Given the description of an element on the screen output the (x, y) to click on. 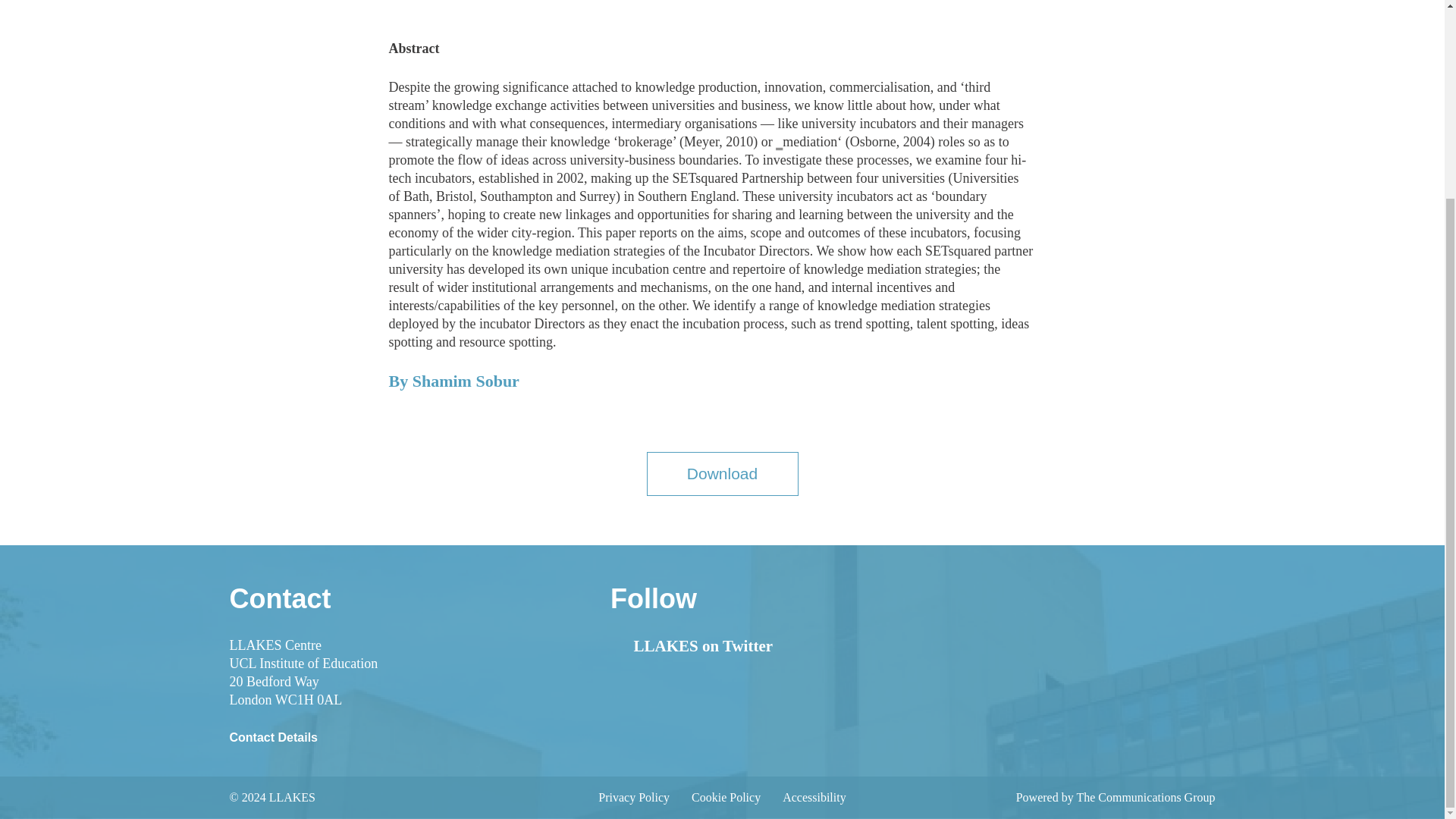
Powered by The Communications Group (1115, 797)
Cookie Policy (725, 797)
Contact Details (272, 737)
Download (721, 474)
By Shamim Sobur (453, 388)
Privacy Policy (633, 797)
Accessibility (814, 797)
LLAKES on Twitter (691, 646)
